Given the description of an element on the screen output the (x, y) to click on. 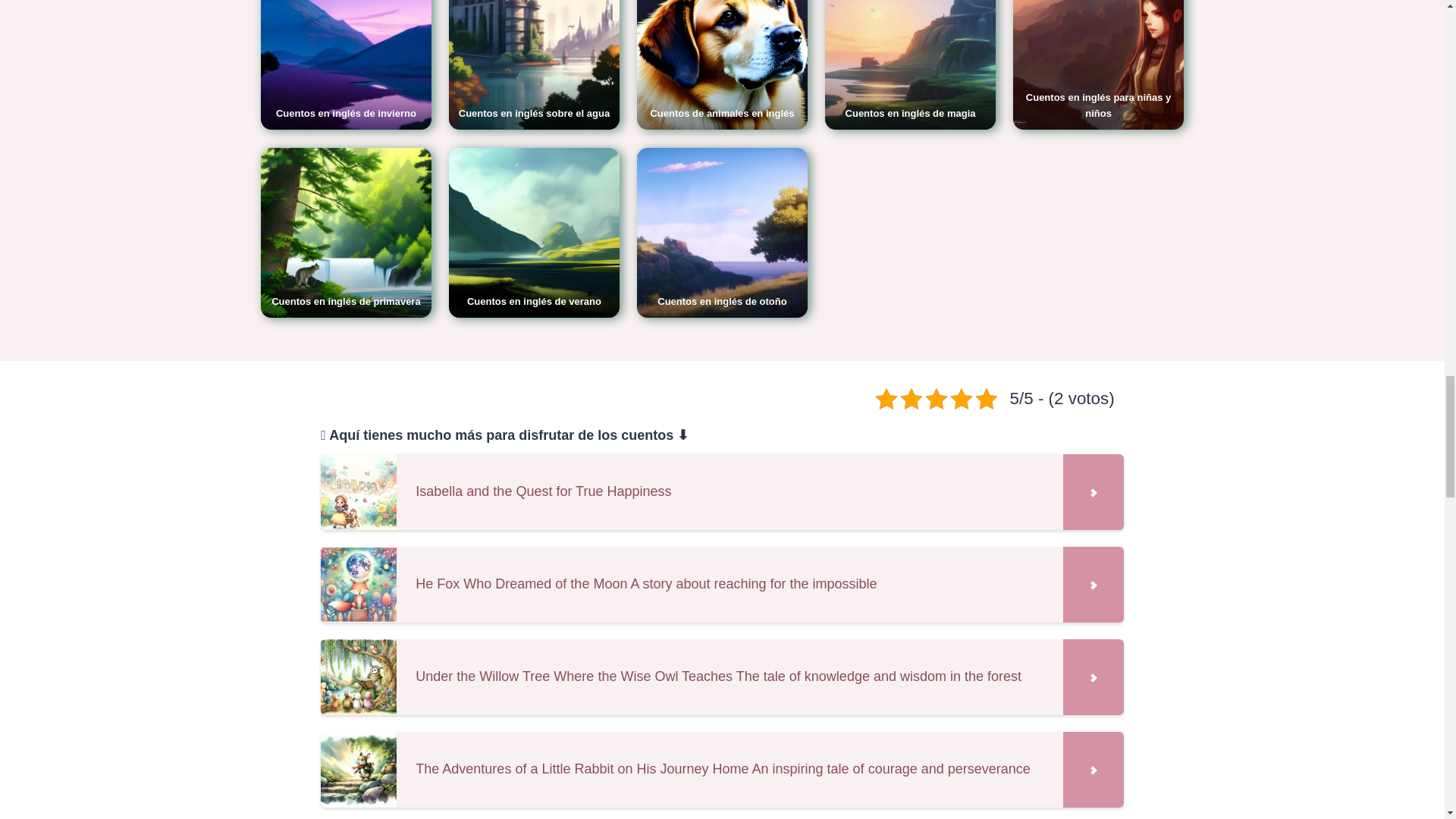
Isabella and the Quest for True Happiness (721, 491)
